Given the description of an element on the screen output the (x, y) to click on. 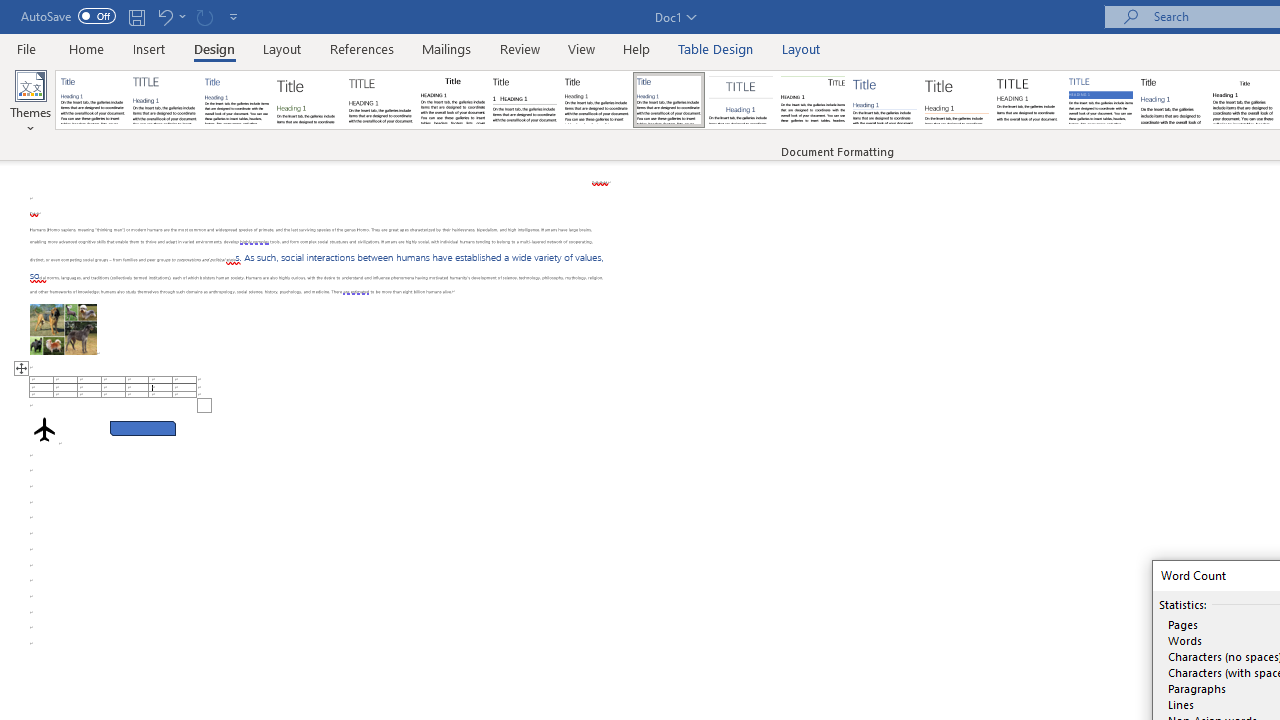
Lines (Distinctive) (812, 100)
Black & White (Capitalized) (381, 100)
Lines (Stylish) (957, 100)
Black & White (Classic) (452, 100)
Can't Repeat (204, 15)
Document (93, 100)
